Given the description of an element on the screen output the (x, y) to click on. 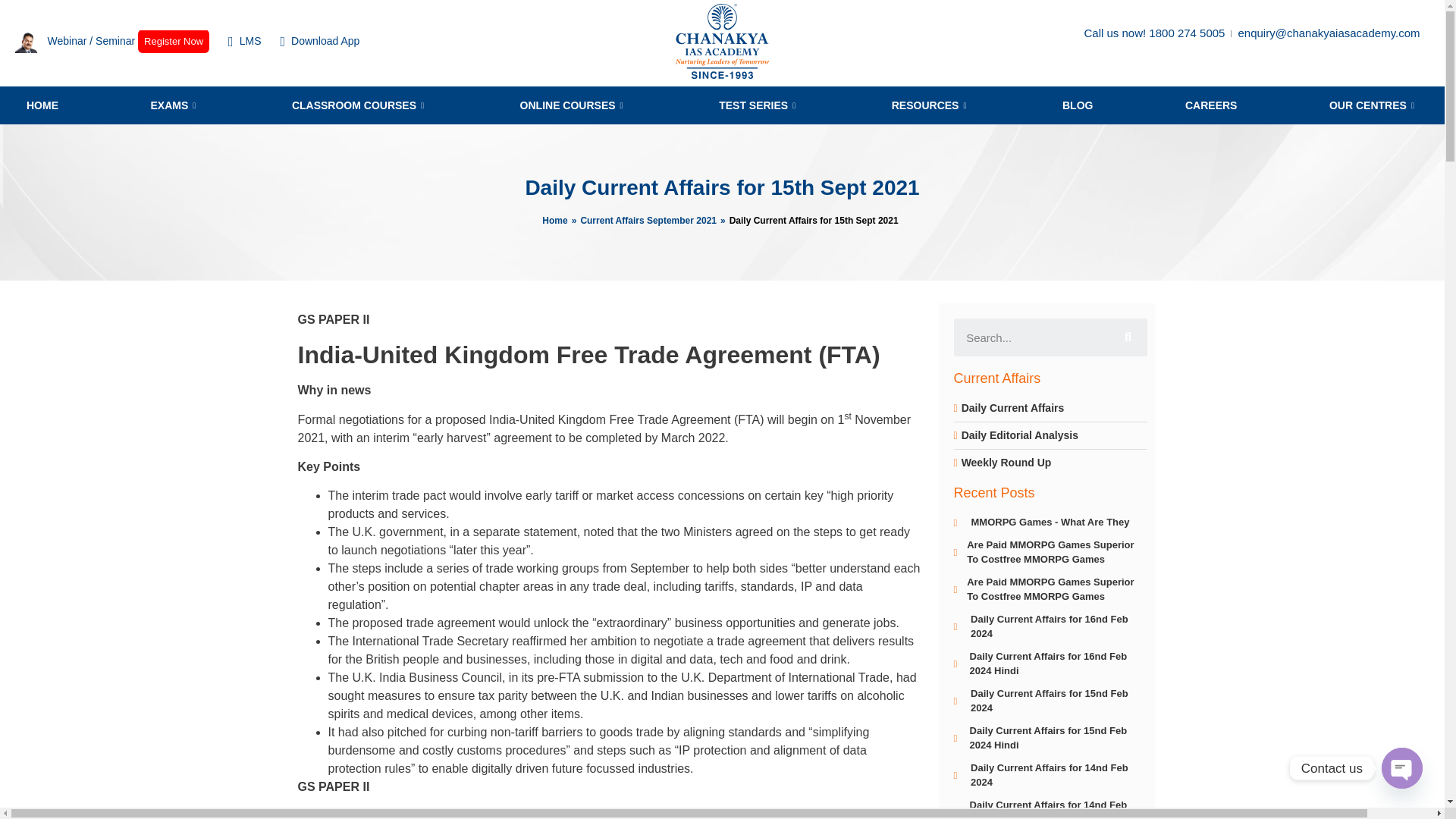
HOME (42, 105)
CLASSROOM COURSES (359, 105)
BLOG (1077, 105)
LMS (244, 41)
Download App (319, 41)
Call us now! 1800 274 5005 (1153, 33)
Search (1127, 337)
RESOURCES (931, 105)
EXAMS (175, 105)
Search (1031, 337)
ONLINE COURSES (573, 105)
TEST SERIES (758, 105)
